Given the description of an element on the screen output the (x, y) to click on. 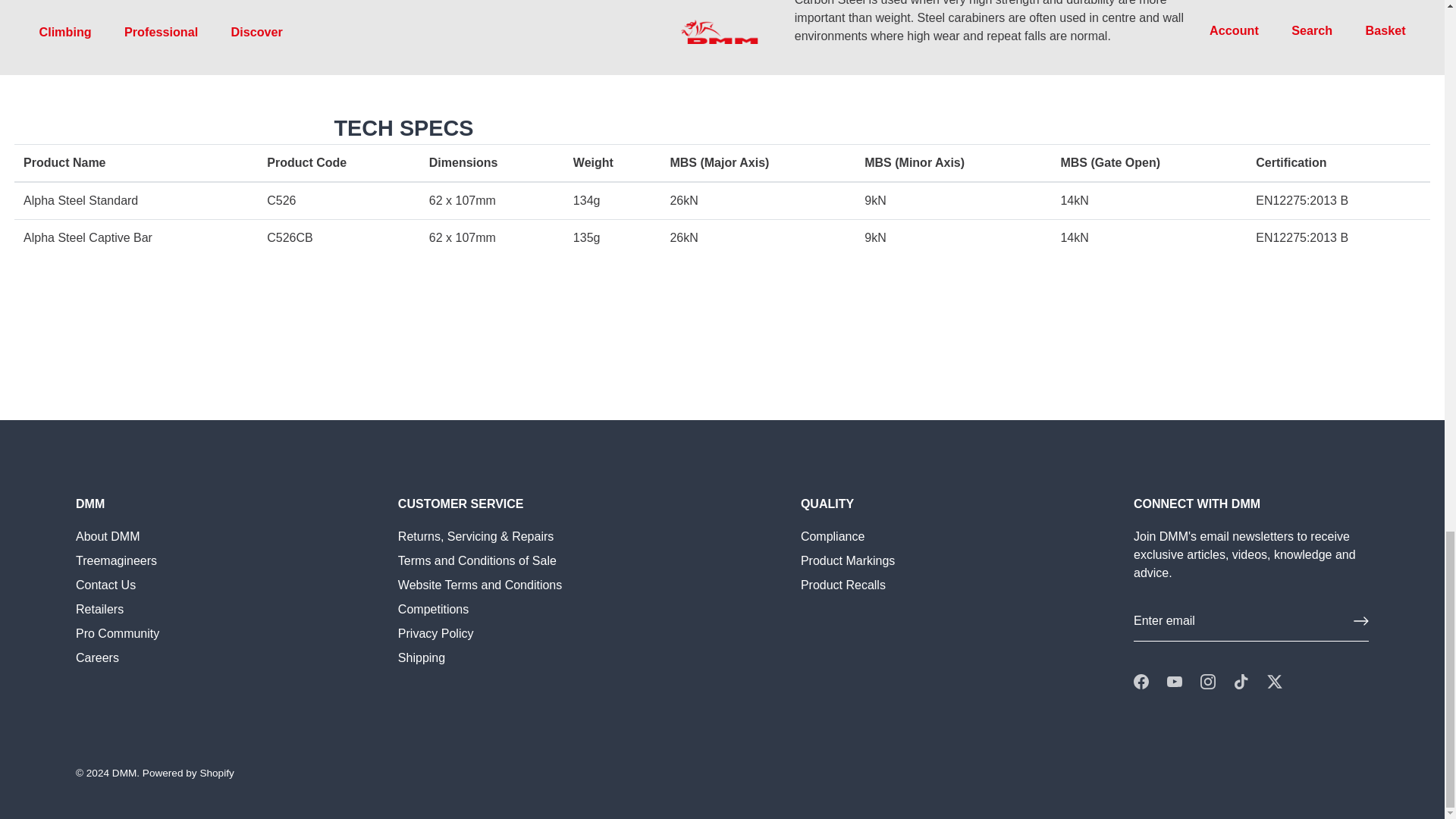
Youtube (1174, 681)
RIGHT ARROW LONG (1361, 620)
Instagram (1207, 681)
